Given the description of an element on the screen output the (x, y) to click on. 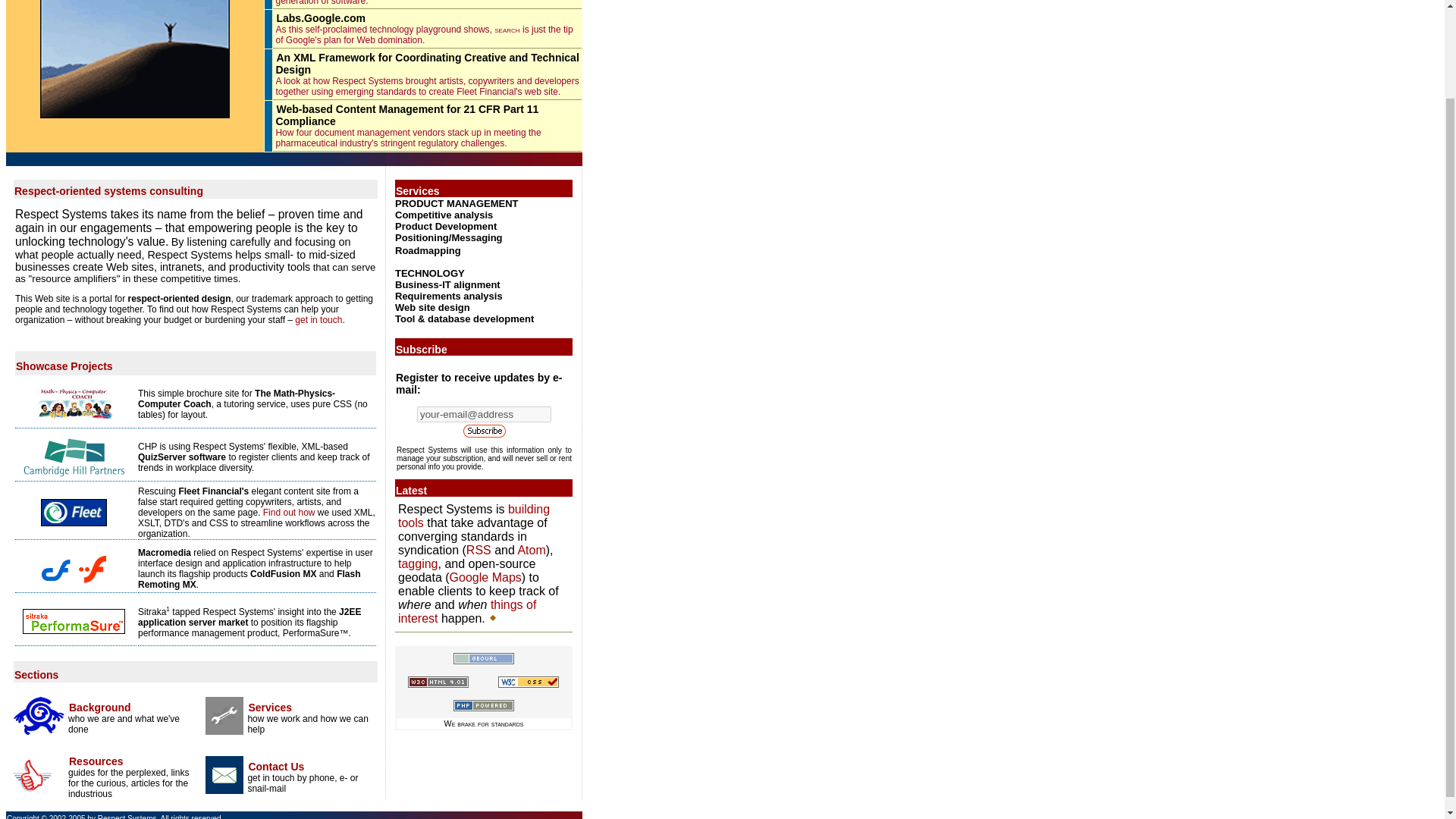
Showcase Projects (64, 366)
help launch (245, 567)
Atom (530, 549)
Find out how (289, 511)
Background (99, 707)
See a list of our physical neighbors (482, 658)
Contact Us (275, 766)
Submit (484, 429)
get in touch (318, 319)
Resources (95, 761)
Google Maps (485, 576)
RSS (478, 549)
